Given the description of an element on the screen output the (x, y) to click on. 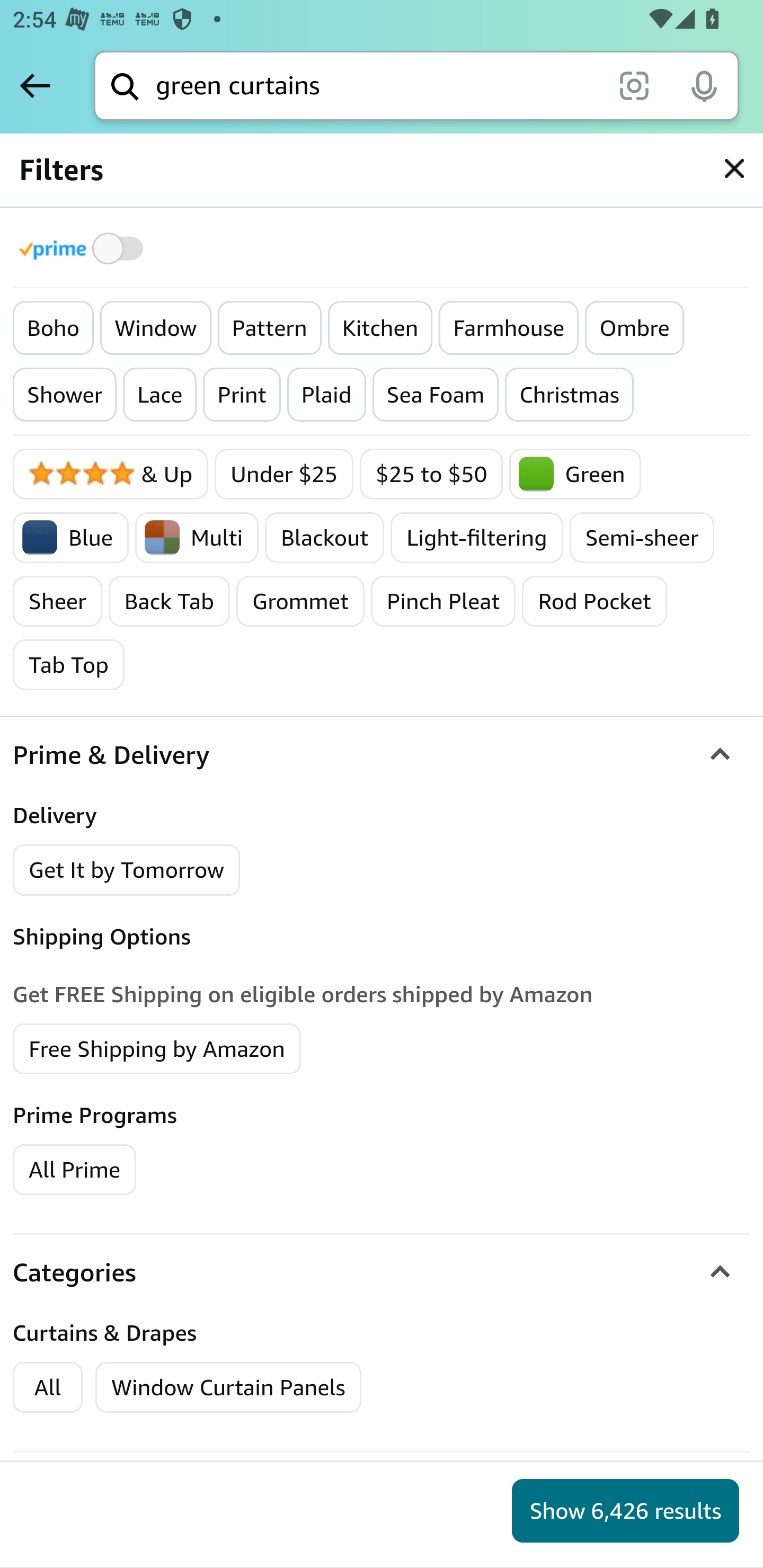
Back (35, 85)
scan it (633, 85)
Toggle to filter by Prime products Prime Eligible (83, 247)
Boho (53, 328)
Window (155, 328)
Pattern (268, 328)
Kitchen (380, 328)
Farmhouse (508, 328)
Ombre (635, 328)
Shower (64, 394)
Lace (159, 394)
Print (241, 394)
Plaid (326, 394)
Sea Foam (435, 394)
Christmas (568, 394)
4 Stars & Up (110, 474)
Under $25 (284, 474)
$25 to $50 (431, 474)
Green Green Green Green (575, 474)
Blue Blue Blue Blue (71, 537)
Multi Multi Multi Multi (197, 537)
Blackout (323, 537)
Light-filtering (476, 537)
Semi-sheer (642, 537)
Sheer (57, 601)
Back Tab (169, 601)
Grommet (300, 601)
Pinch Pleat (443, 601)
Rod Pocket (594, 601)
Tab Top (68, 664)
Prime & Delivery (381, 755)
Get It by Tomorrow (126, 869)
Free Shipping by Amazon (157, 1048)
All Prime (74, 1168)
Categories (381, 1271)
All (47, 1387)
Window Curtain Panels (228, 1387)
Show 6,426 results (625, 1510)
